Given the description of an element on the screen output the (x, y) to click on. 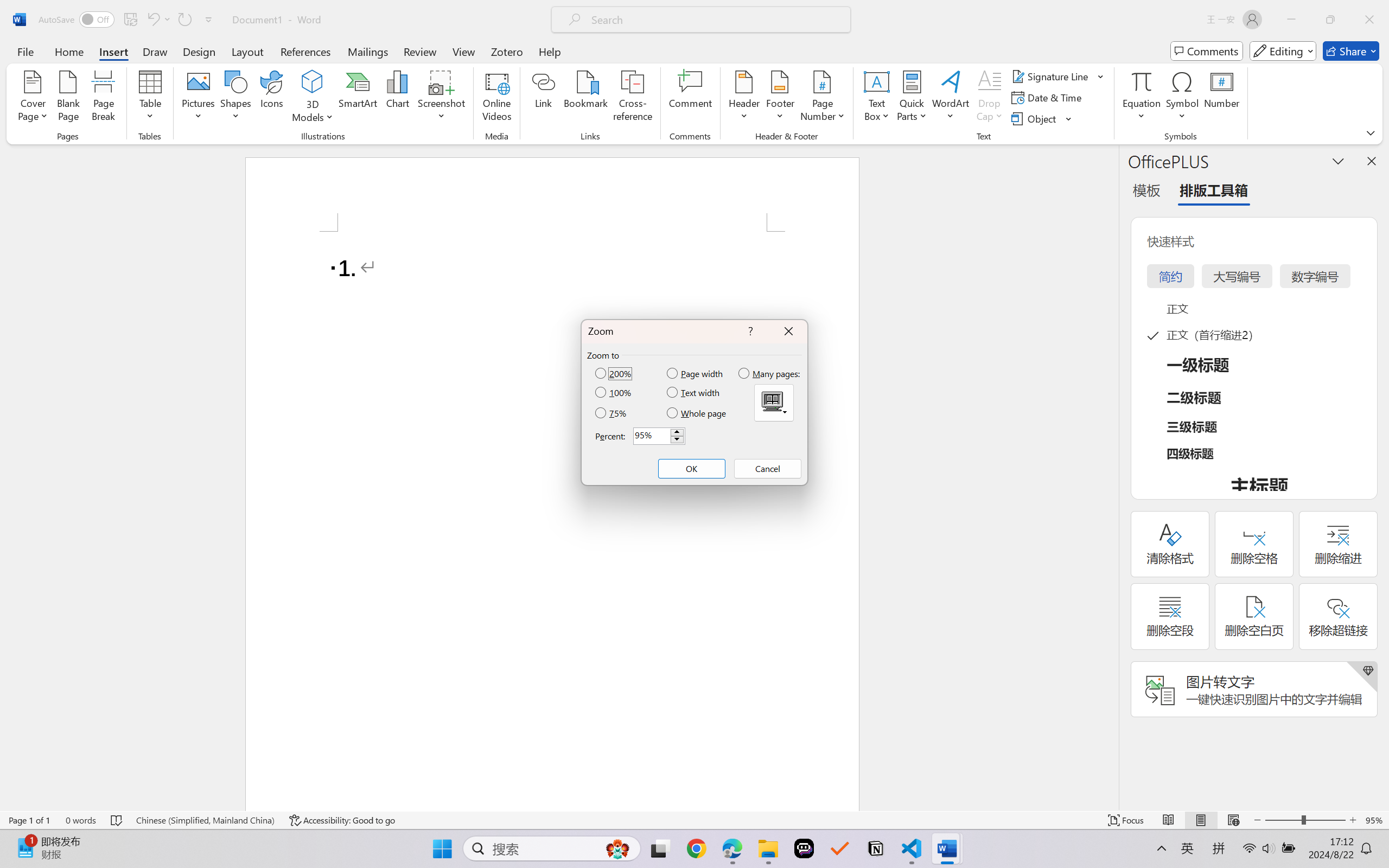
Signature Line (1051, 75)
Undo Number Default (152, 19)
75% (611, 412)
Icons (271, 97)
